Given the description of an element on the screen output the (x, y) to click on. 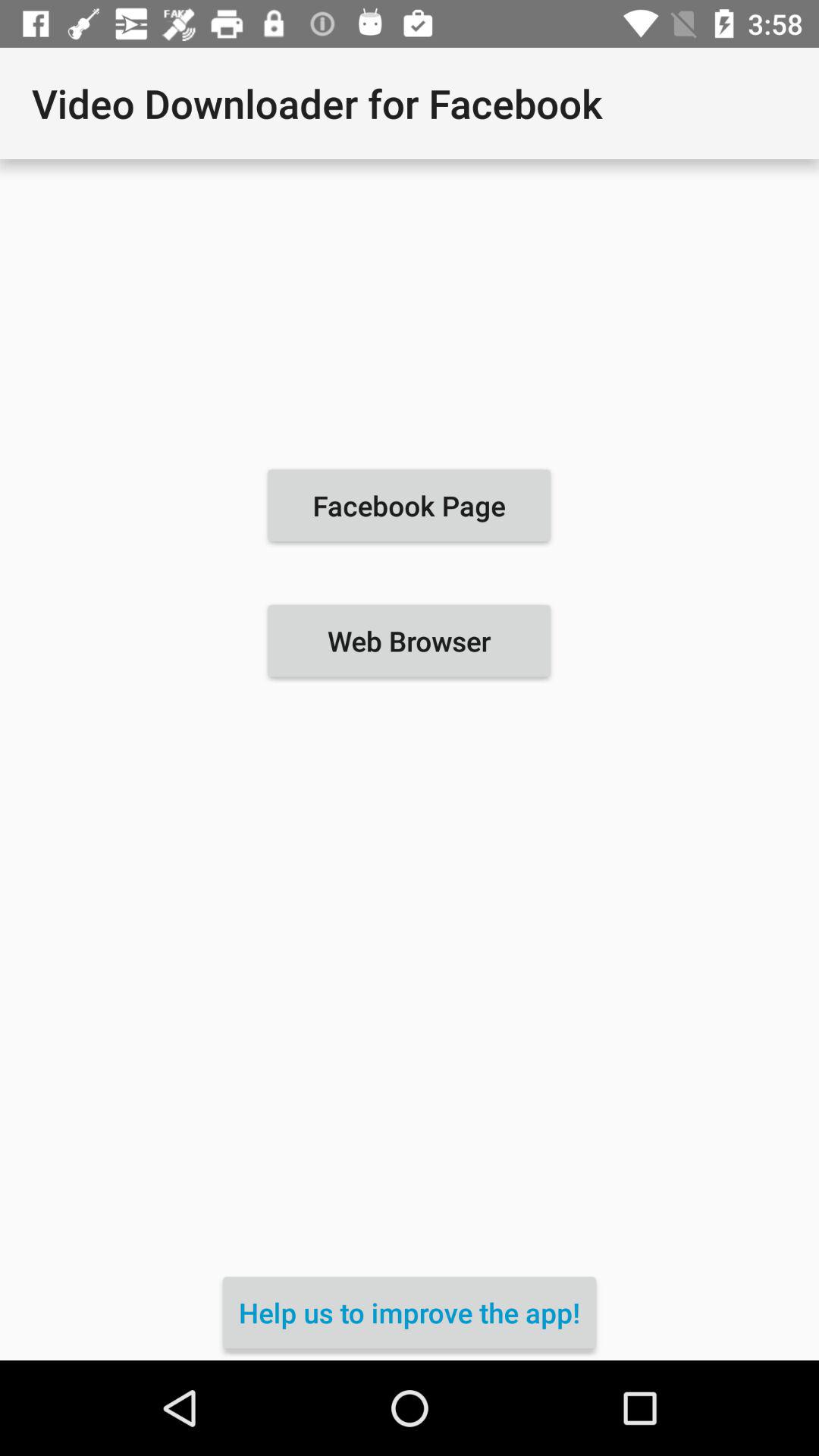
click icon below facebook page item (408, 640)
